Given the description of an element on the screen output the (x, y) to click on. 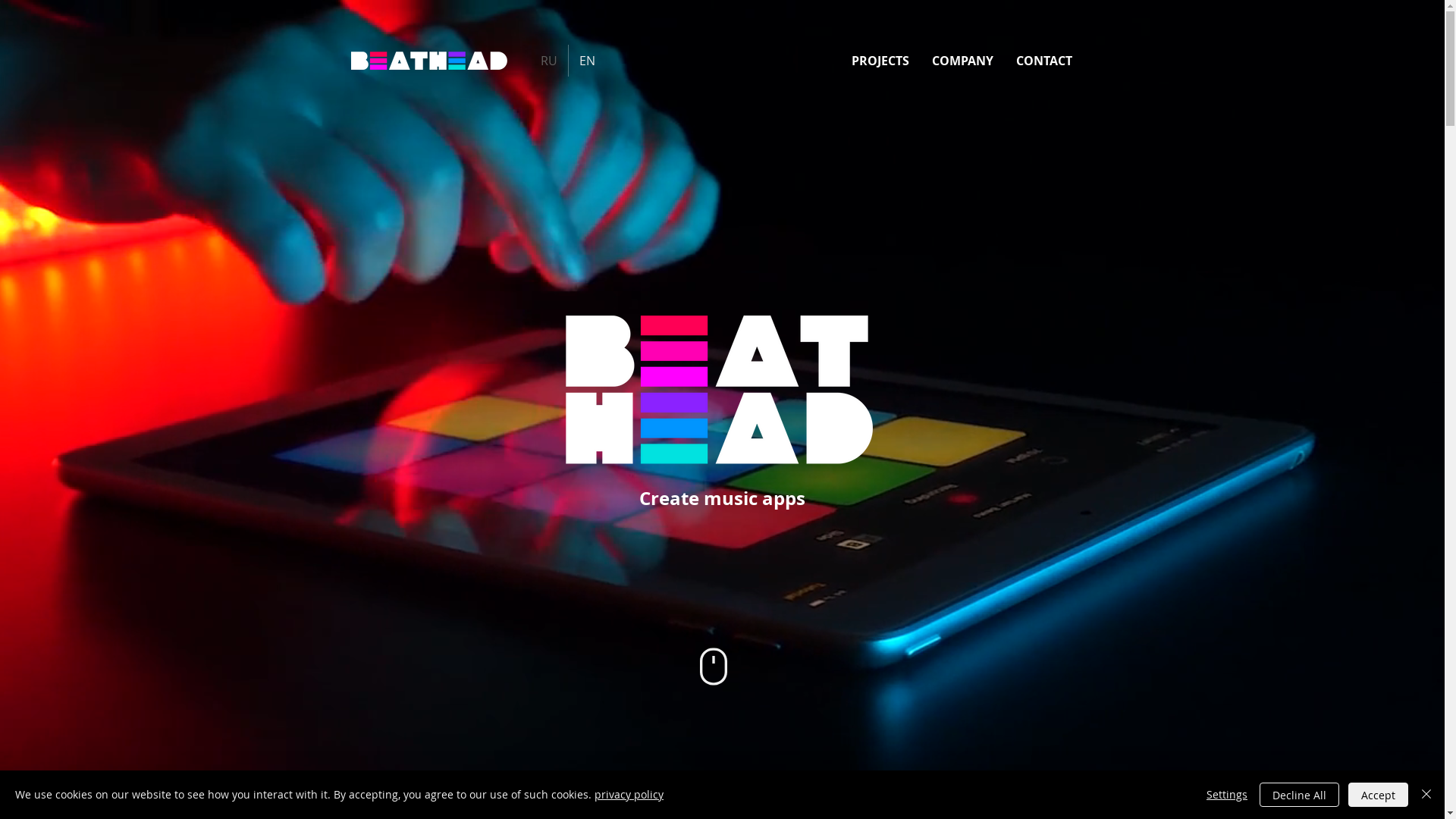
CONTACT Element type: text (1043, 60)
Accept Element type: text (1378, 794)
COMPANY Element type: text (962, 60)
RU Element type: text (548, 60)
EN Element type: text (586, 60)
privacy policy Element type: text (628, 794)
Decline All Element type: text (1299, 794)
PROJECTS Element type: text (880, 60)
